Given the description of an element on the screen output the (x, y) to click on. 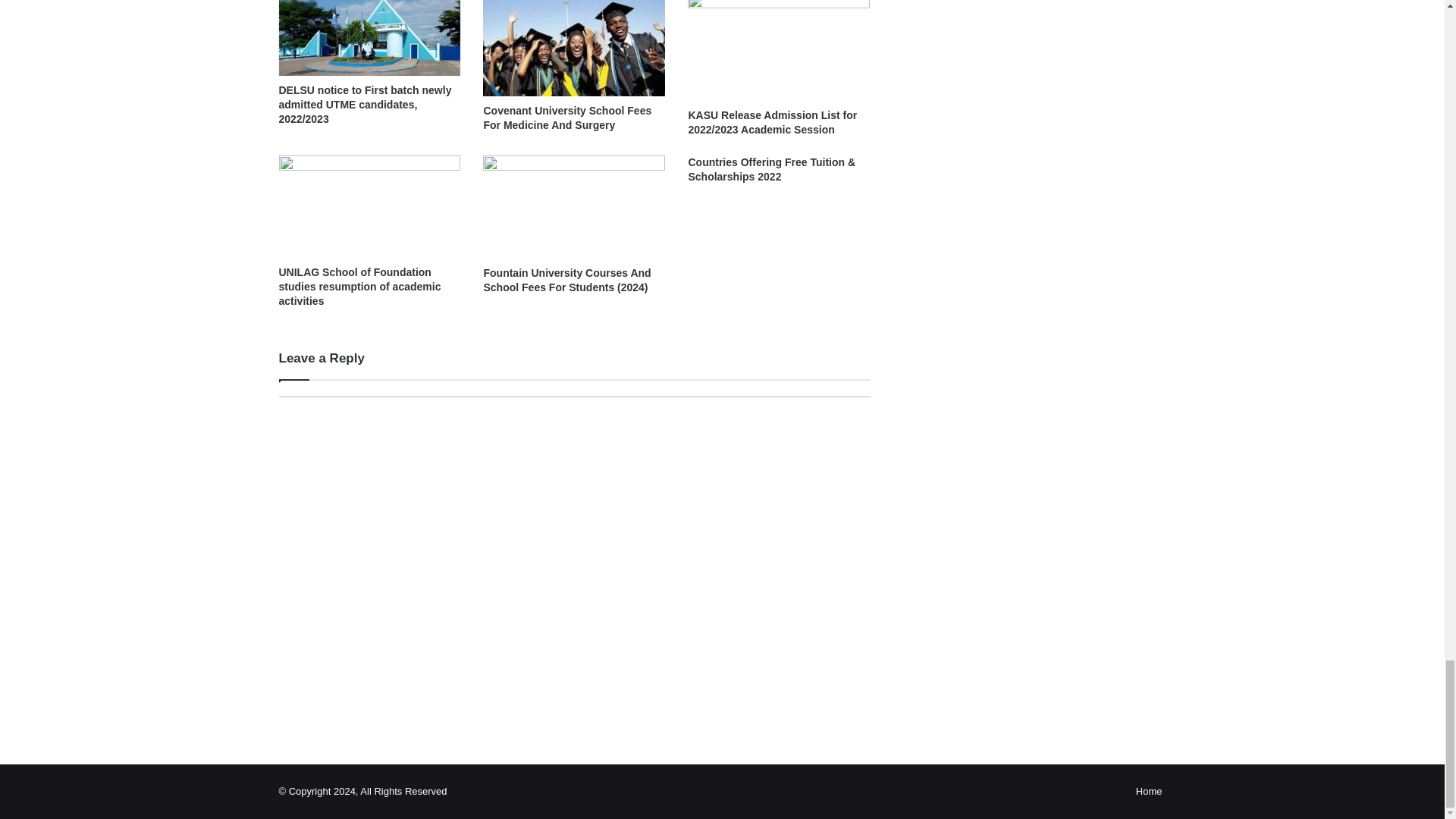
Covenant University School Fees For Medicine And Surgery (566, 117)
